Given the description of an element on the screen output the (x, y) to click on. 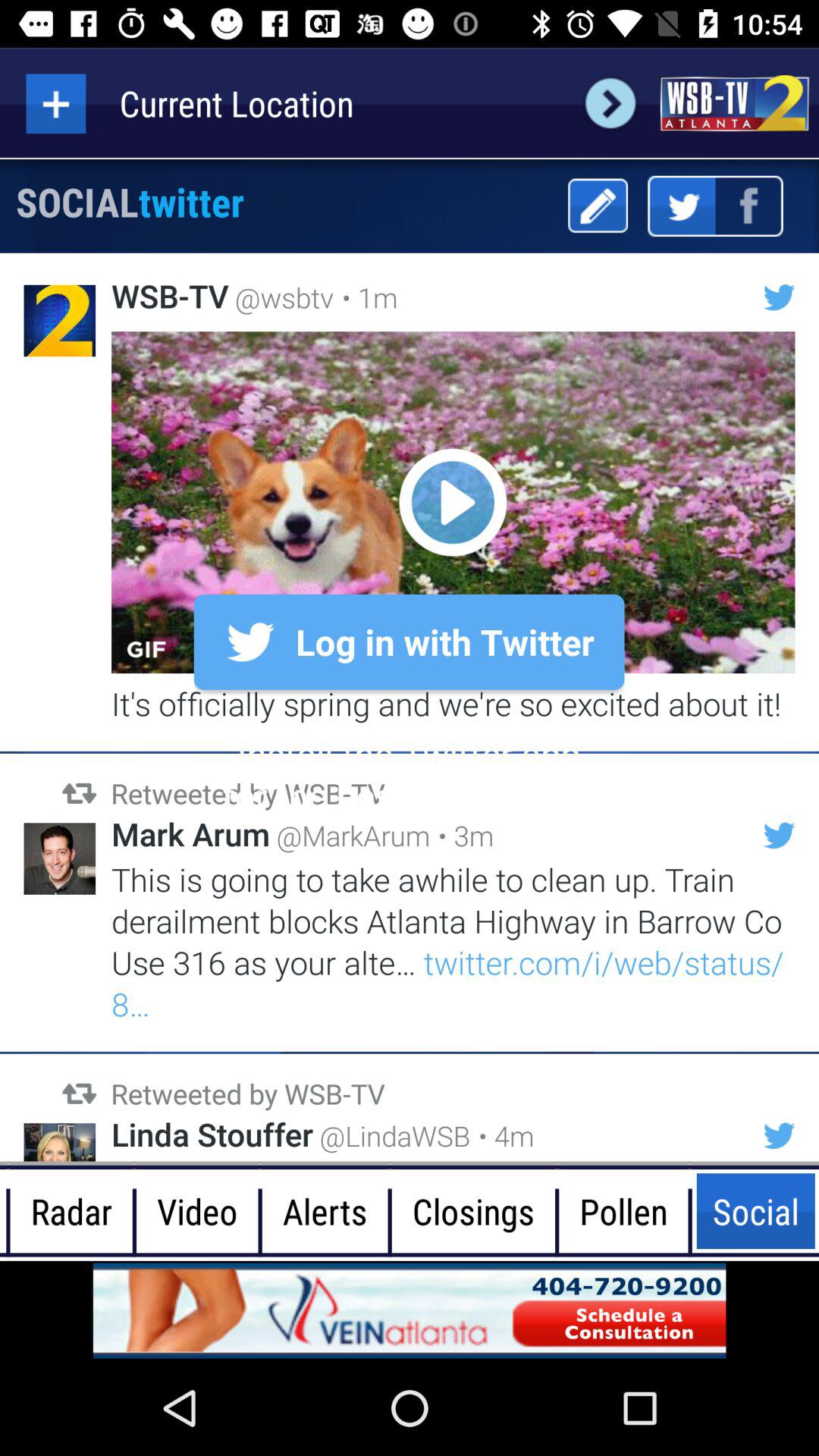
add location (55, 103)
